Given the description of an element on the screen output the (x, y) to click on. 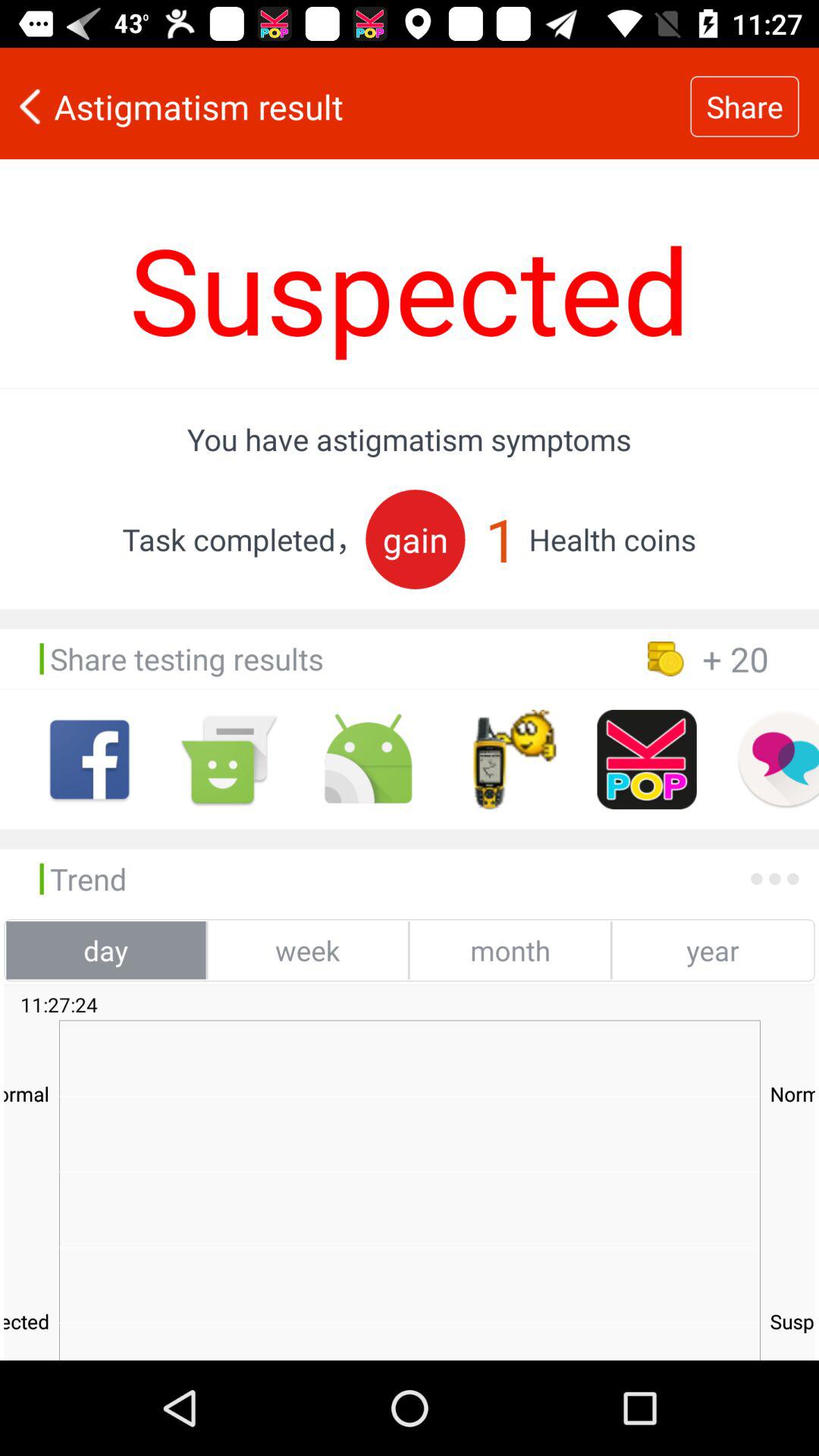
scroll until the month item (510, 950)
